Given the description of an element on the screen output the (x, y) to click on. 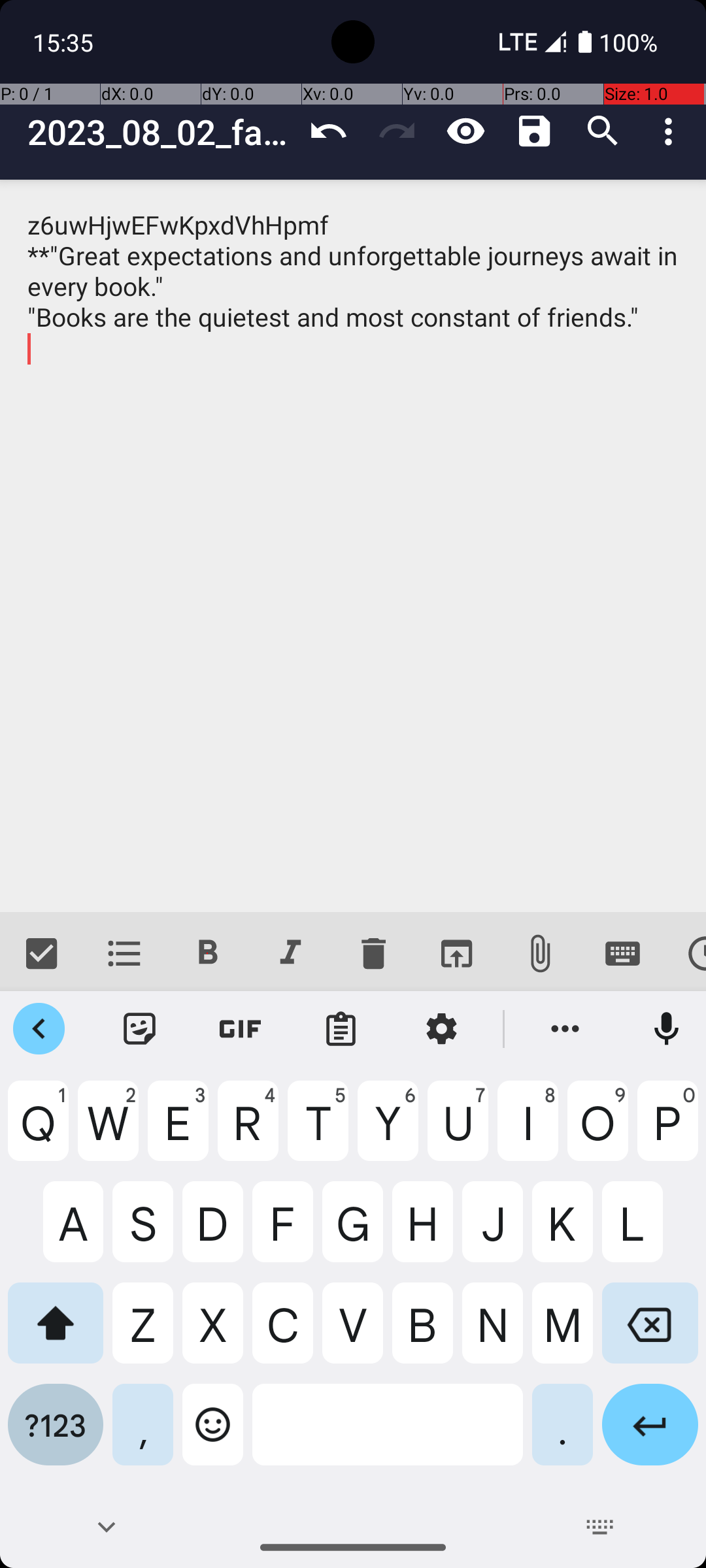
2023_08_02_favorite_book_quotes Element type: android.widget.TextView (160, 131)
z6uwHjwEFwKpxdVhHpmf
**"Great expectations and unforgettable journeys await in every book."
"Books are the quietest and most constant of friends."
 Element type: android.widget.EditText (353, 545)
